Given the description of an element on the screen output the (x, y) to click on. 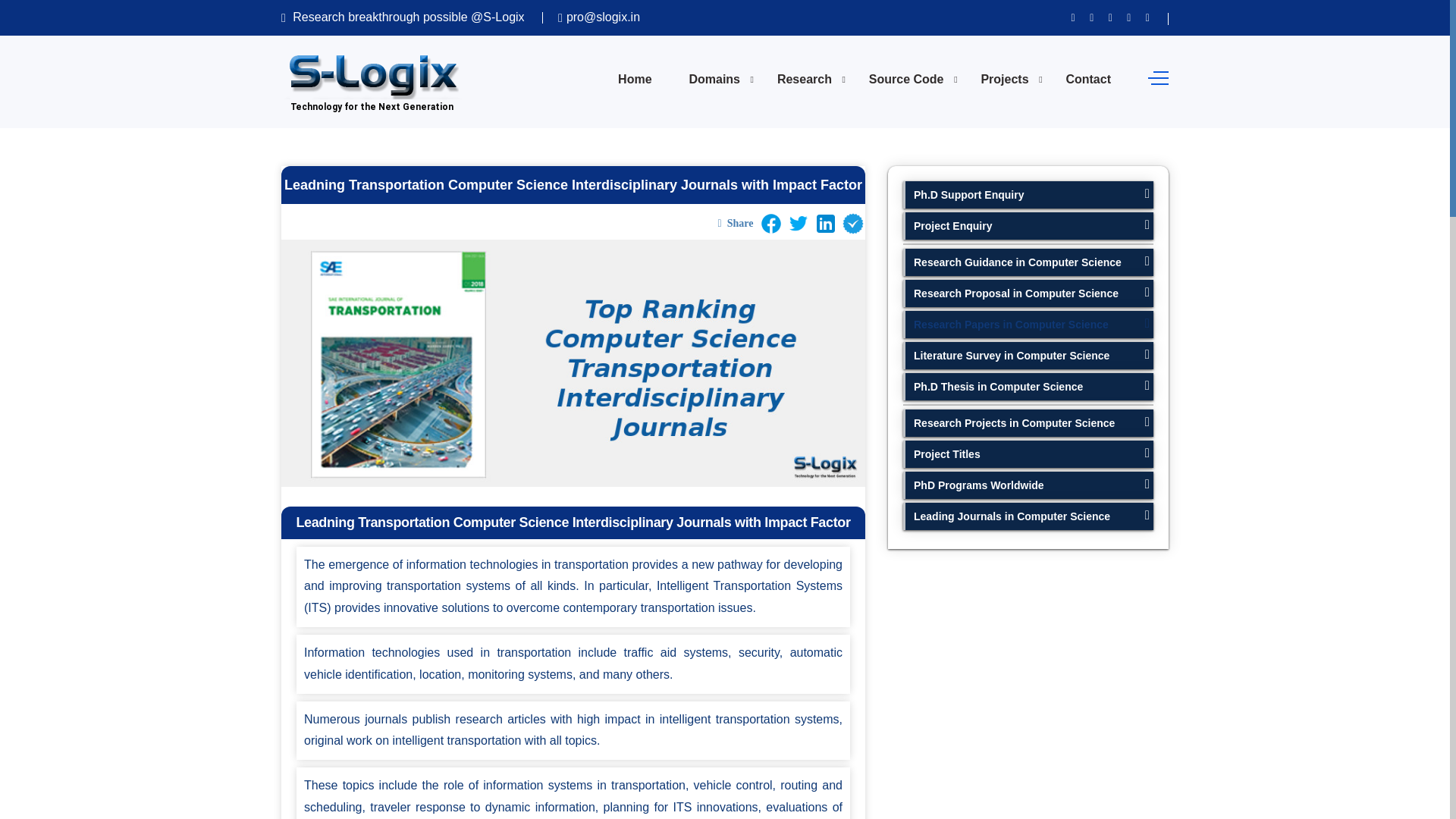
instagram (852, 223)
linkedin (825, 223)
facebook (770, 223)
twitter (798, 223)
